Given the description of an element on the screen output the (x, y) to click on. 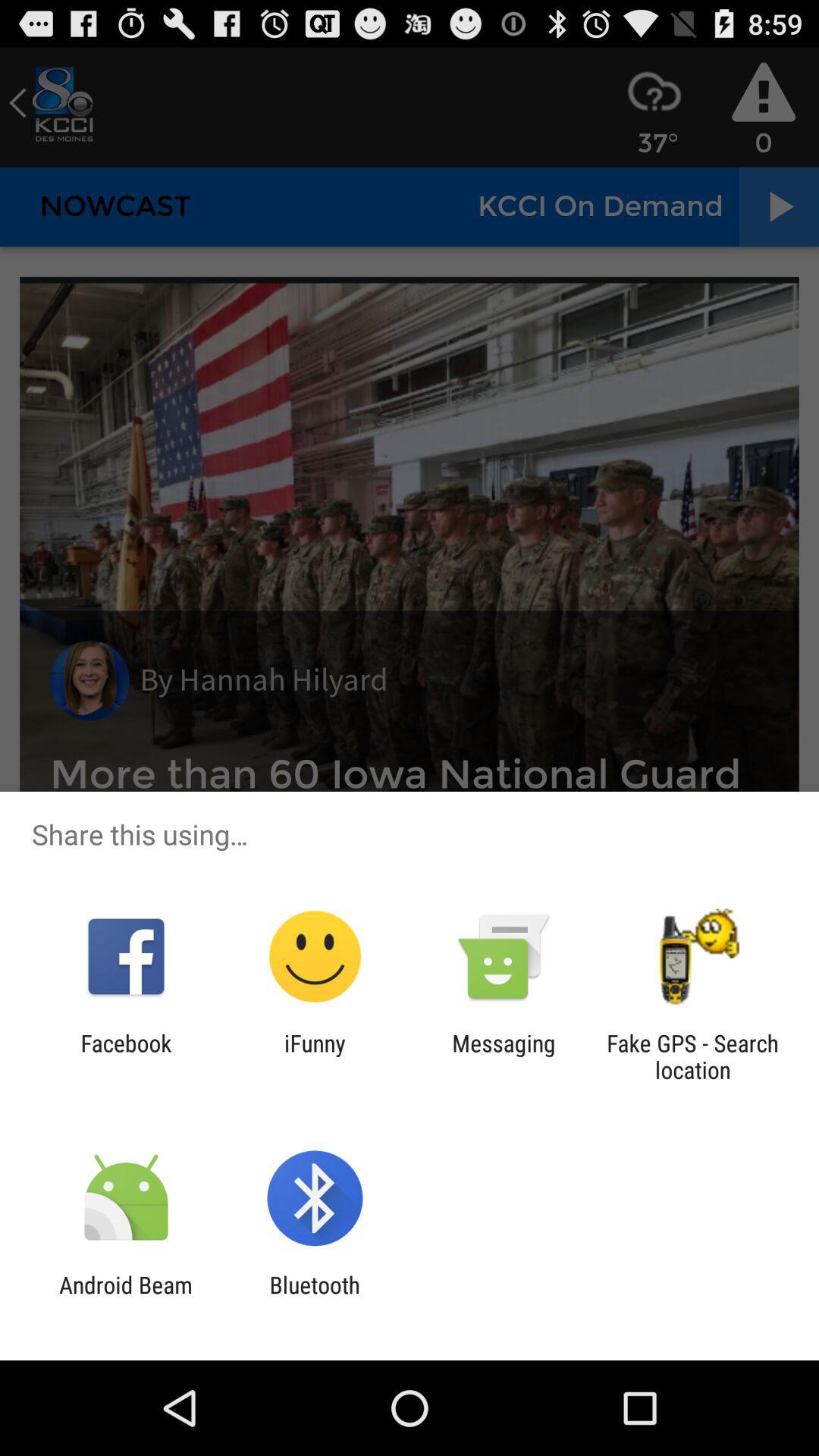
tap icon next to the bluetooth (125, 1298)
